Given the description of an element on the screen output the (x, y) to click on. 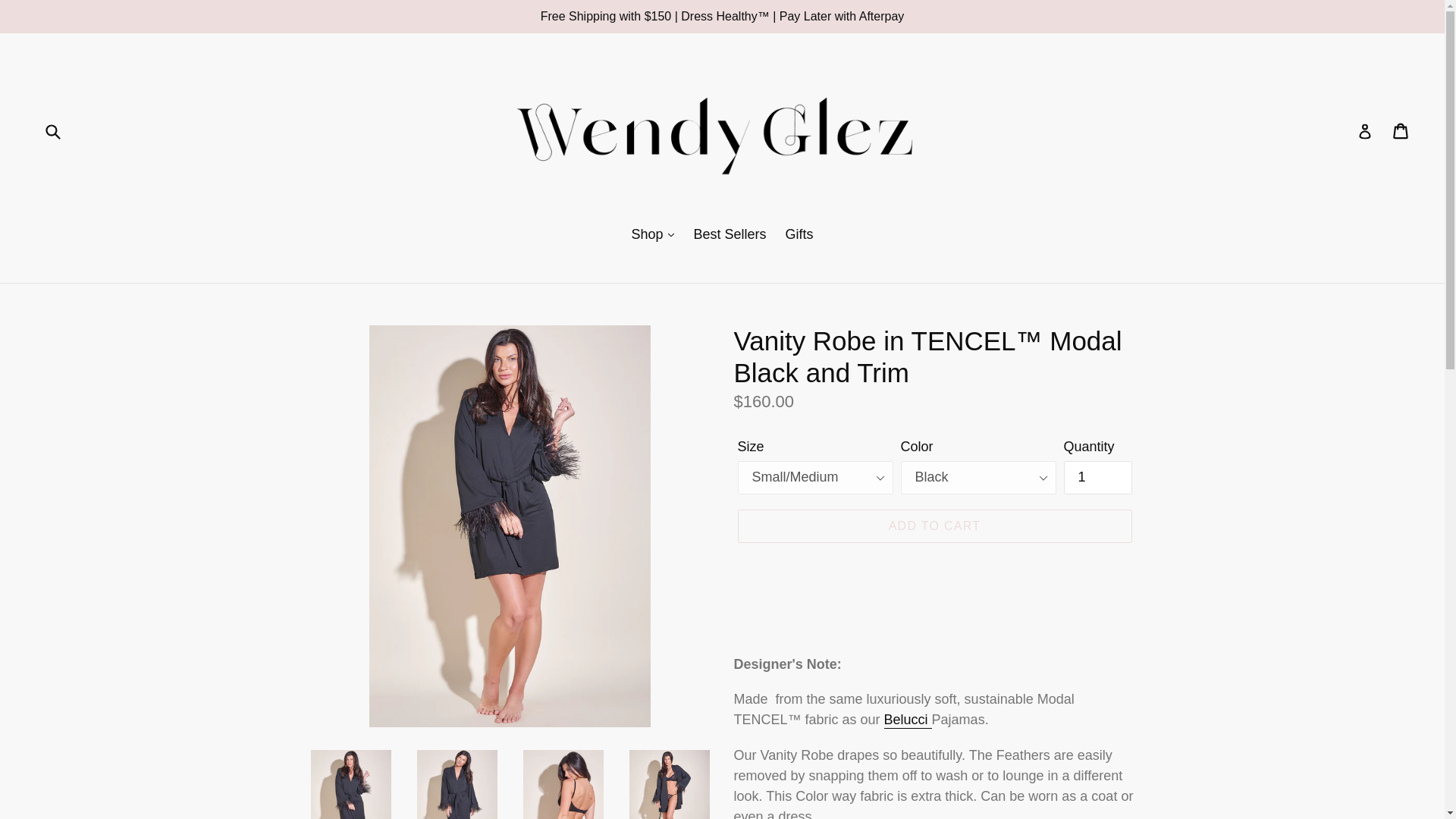
Gifts (799, 235)
1 (1096, 477)
Best Sellers (729, 235)
Belucci Camisole and Pants Black Pajamas (907, 719)
ADD TO CART (933, 525)
